Given the description of an element on the screen output the (x, y) to click on. 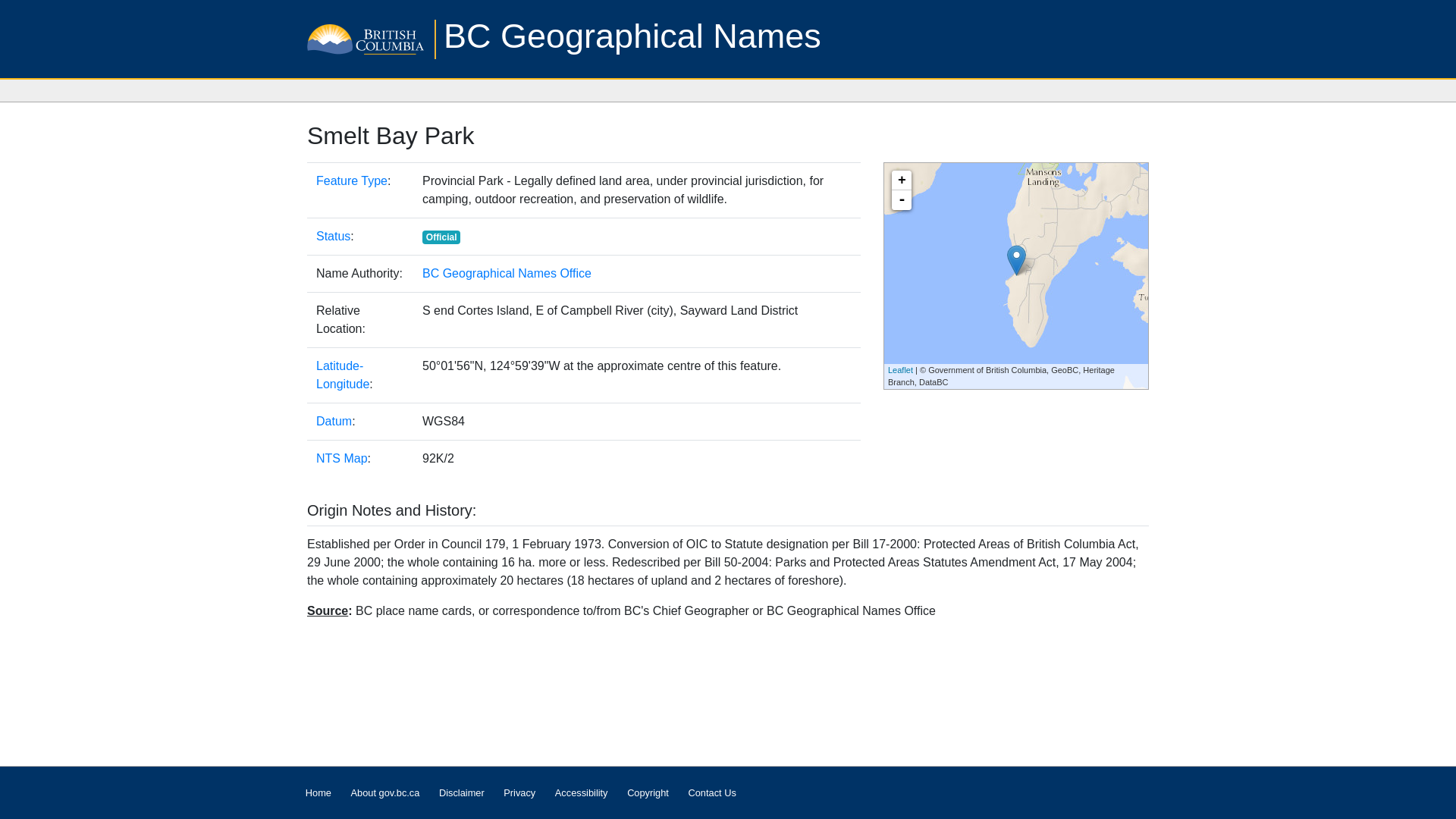
About gov.bc.ca Element type: text (385, 792)
Status Element type: text (333, 235)
Home Element type: text (318, 792)
Leaflet Element type: text (900, 369)
Contact Us Element type: text (712, 792)
BC Geographical Names Office Element type: text (506, 272)
Privacy Element type: text (519, 792)
NTS Map Element type: text (341, 457)
Feature Type Element type: text (351, 180)
BC Geographical Names Element type: text (632, 35)
Datum Element type: text (333, 420)
Disclaimer Element type: text (461, 792)
Copyright Element type: text (647, 792)
Latitude-Longitude Element type: text (342, 374)
- Element type: text (901, 200)
+ Element type: text (901, 180)
Accessibility Element type: text (581, 792)
